Given the description of an element on the screen output the (x, y) to click on. 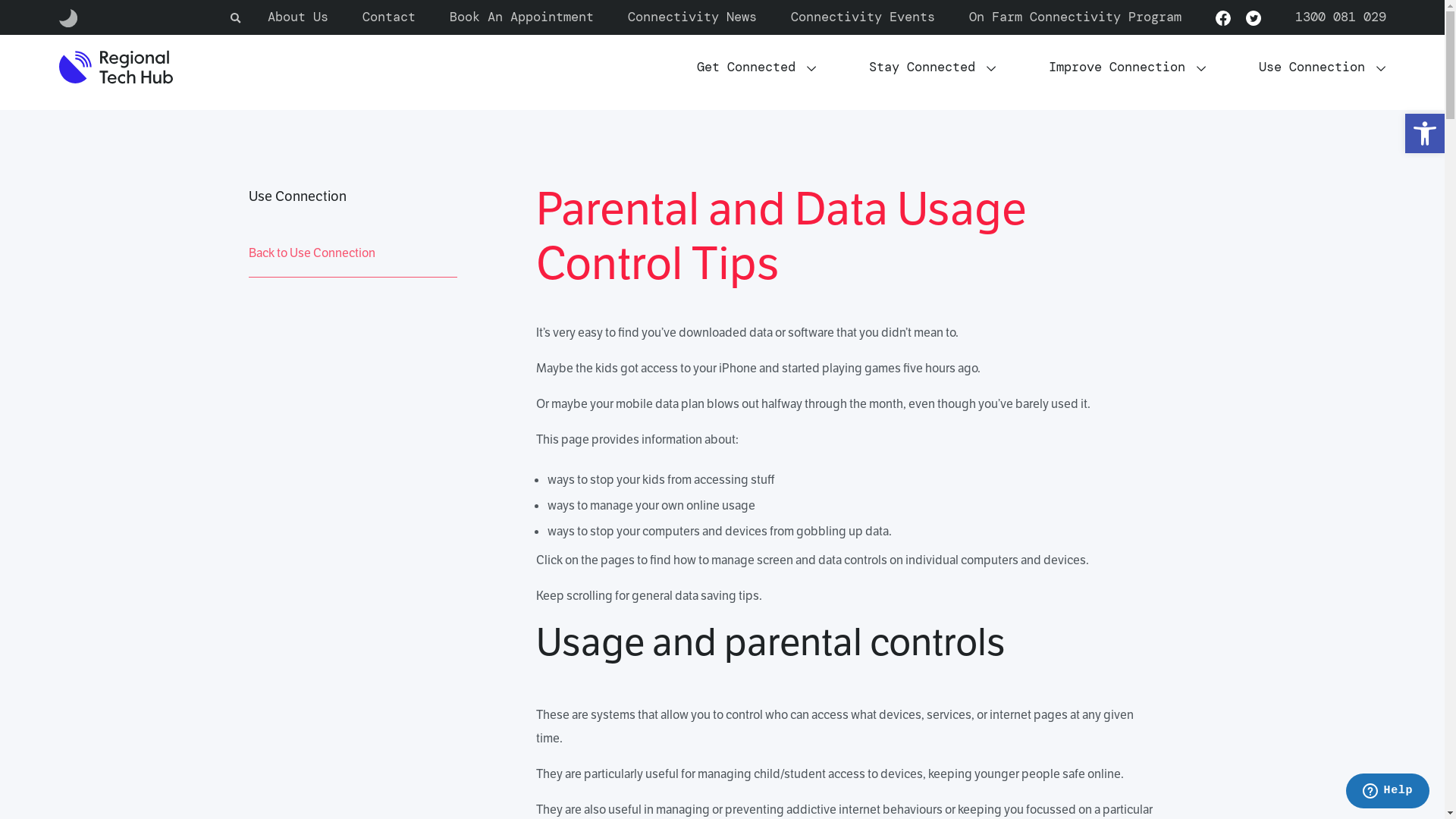
1300 081 029 Element type: text (1340, 17)
On Farm Connectivity Program Element type: text (1075, 17)
Twitter Social Media Icon Element type: text (1252, 17)
Connectivity News Element type: text (691, 17)
Regional Tech Hub Logo Logo for Regional Tech Hub Element type: text (115, 67)
Facebook Social Icon Element type: text (1222, 17)
Contact Element type: text (388, 17)
Opens a widget where you can chat to one of our agents Element type: hover (1387, 792)
Stay Connected Element type: text (932, 67)
Use Connection Element type: text (1321, 67)
Get Connected Element type: text (755, 67)
Open toolbar
Accessibility Tools Element type: text (1424, 133)
Improve Connection Element type: text (1126, 67)
Connectivity Events Element type: text (862, 17)
Book An Appointment Element type: text (520, 17)
About Us Element type: text (296, 17)
Back to Use Connection Element type: text (352, 253)
